Given the description of an element on the screen output the (x, y) to click on. 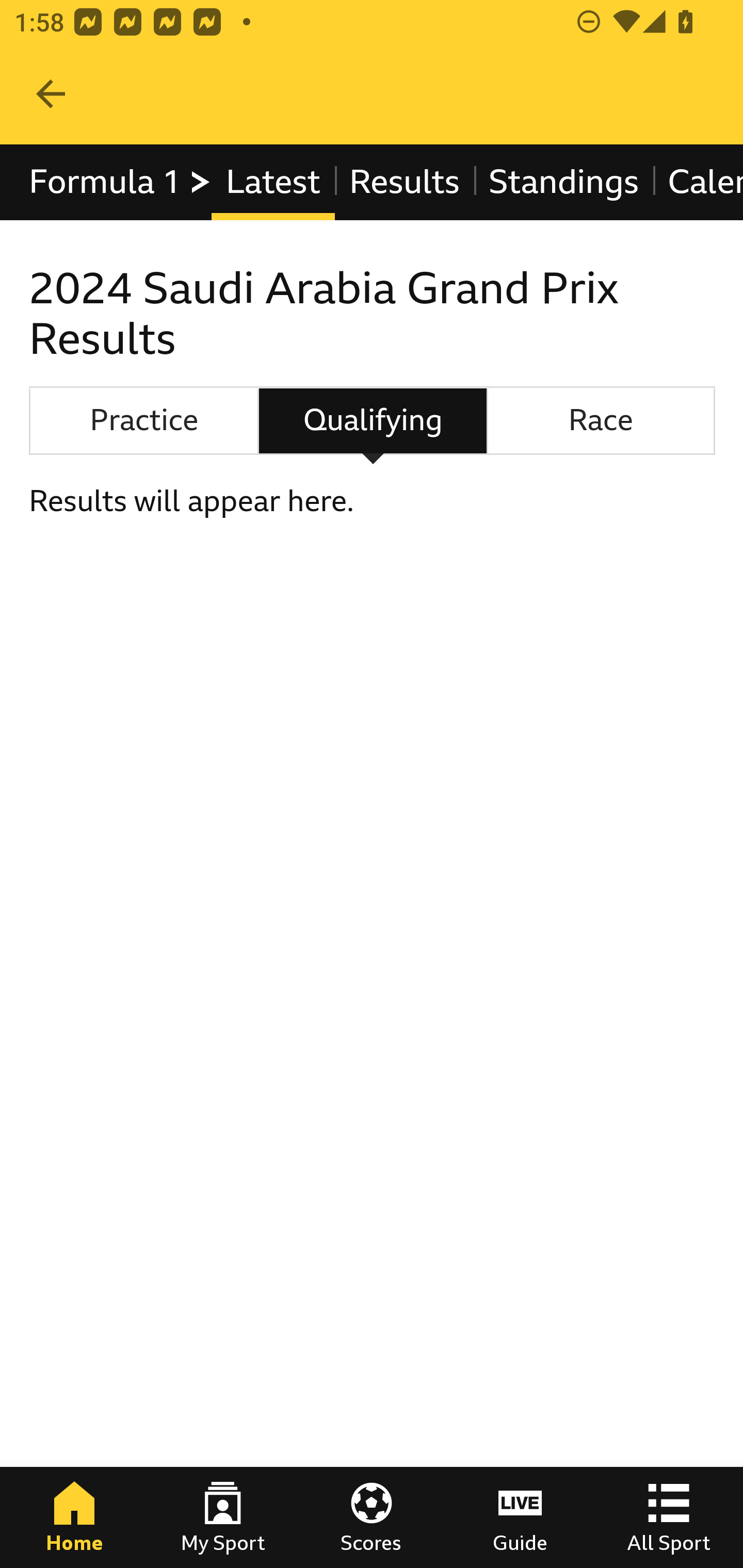
Navigate up (50, 93)
Formula 1  (120, 181)
Latest (272, 181)
Results (403, 181)
Standings (564, 181)
Calendar (697, 181)
Practice (142, 419)
Qualifying (372, 419)
Race (600, 419)
My Sport (222, 1517)
Scores (371, 1517)
Guide (519, 1517)
All Sport (668, 1517)
